Given the description of an element on the screen output the (x, y) to click on. 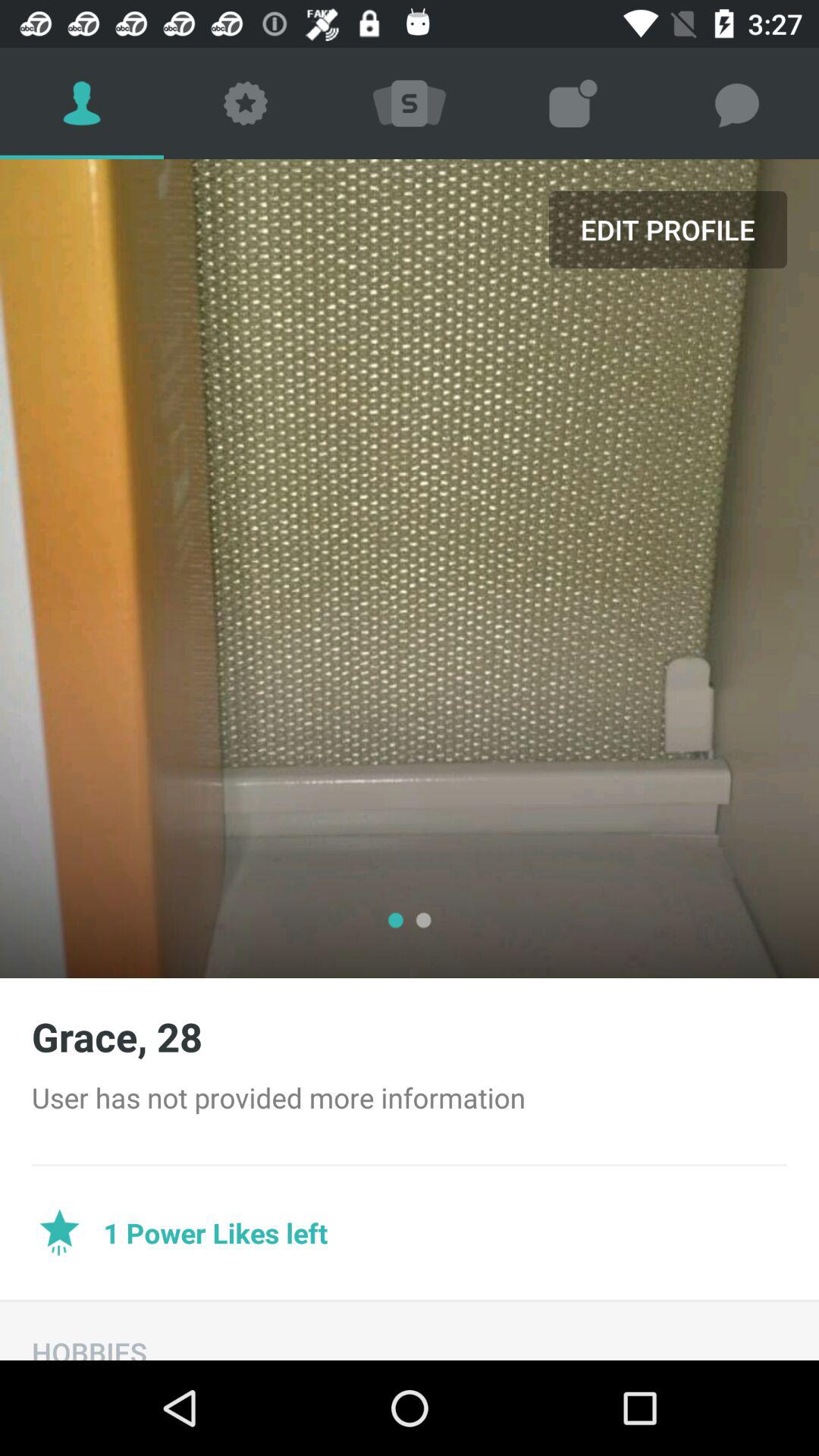
launch item above the grace, 28 (667, 229)
